Given the description of an element on the screen output the (x, y) to click on. 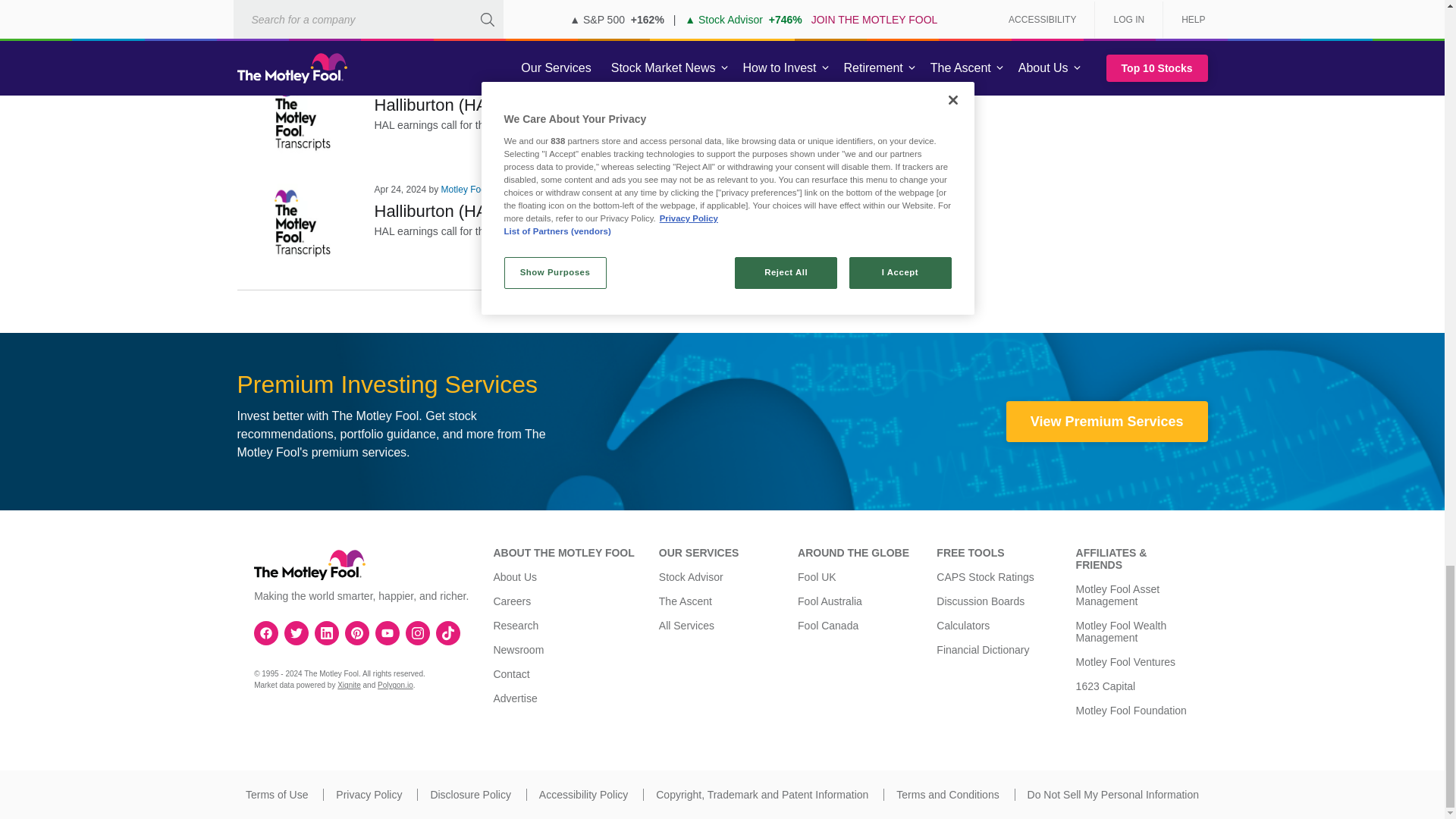
Terms of Use (276, 794)
Copyright, Trademark and Patent Information (761, 794)
Do Not Sell My Personal Information. (1112, 794)
Privacy Policy (368, 794)
Terms and Conditions (947, 794)
Accessibility Policy (582, 794)
Disclosure Policy (470, 794)
